Given the description of an element on the screen output the (x, y) to click on. 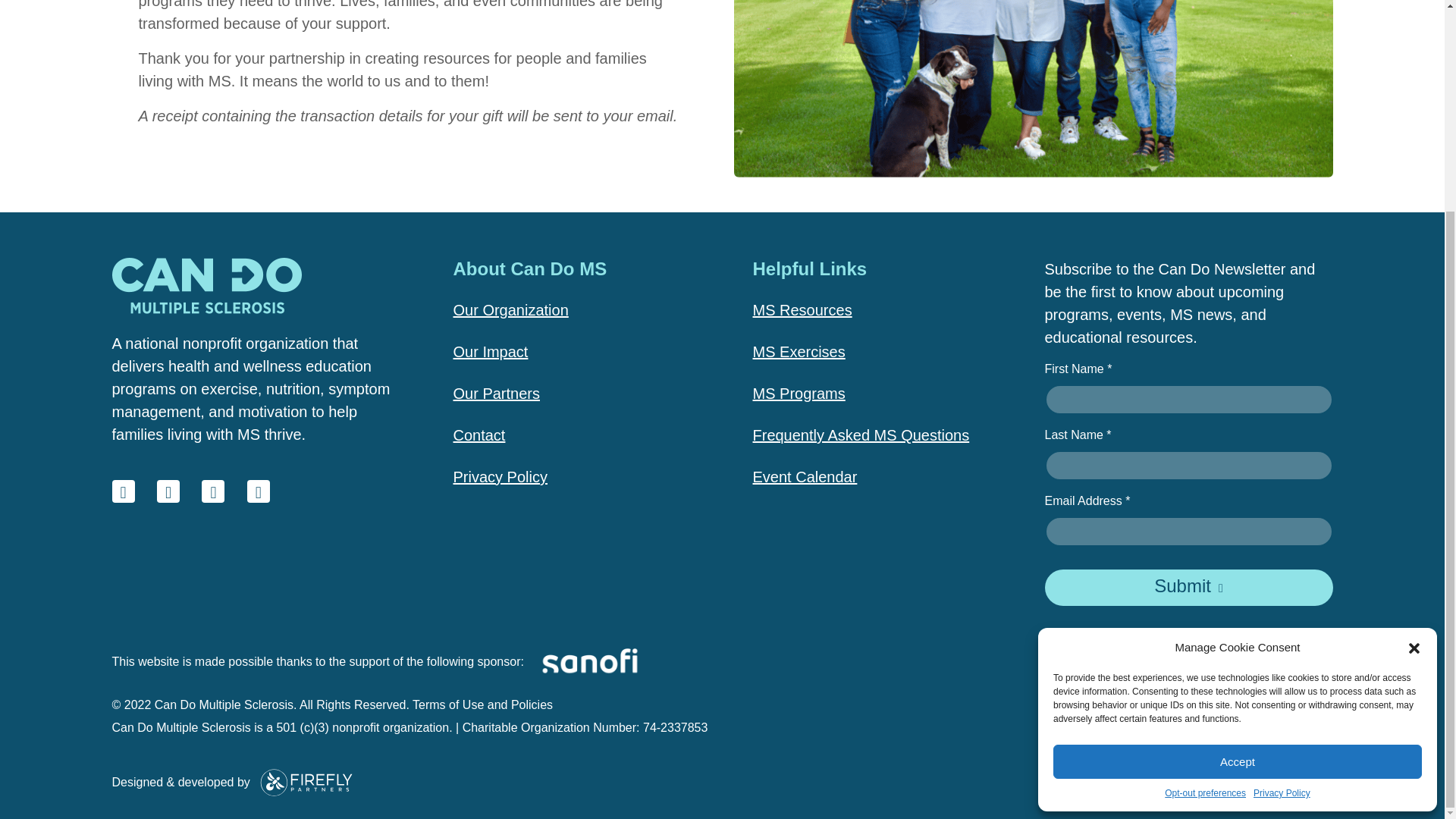
Opt-out preferences (1205, 518)
Accept (1237, 487)
Firefly Partners (306, 781)
Privacy Policy (1281, 518)
